Given the description of an element on the screen output the (x, y) to click on. 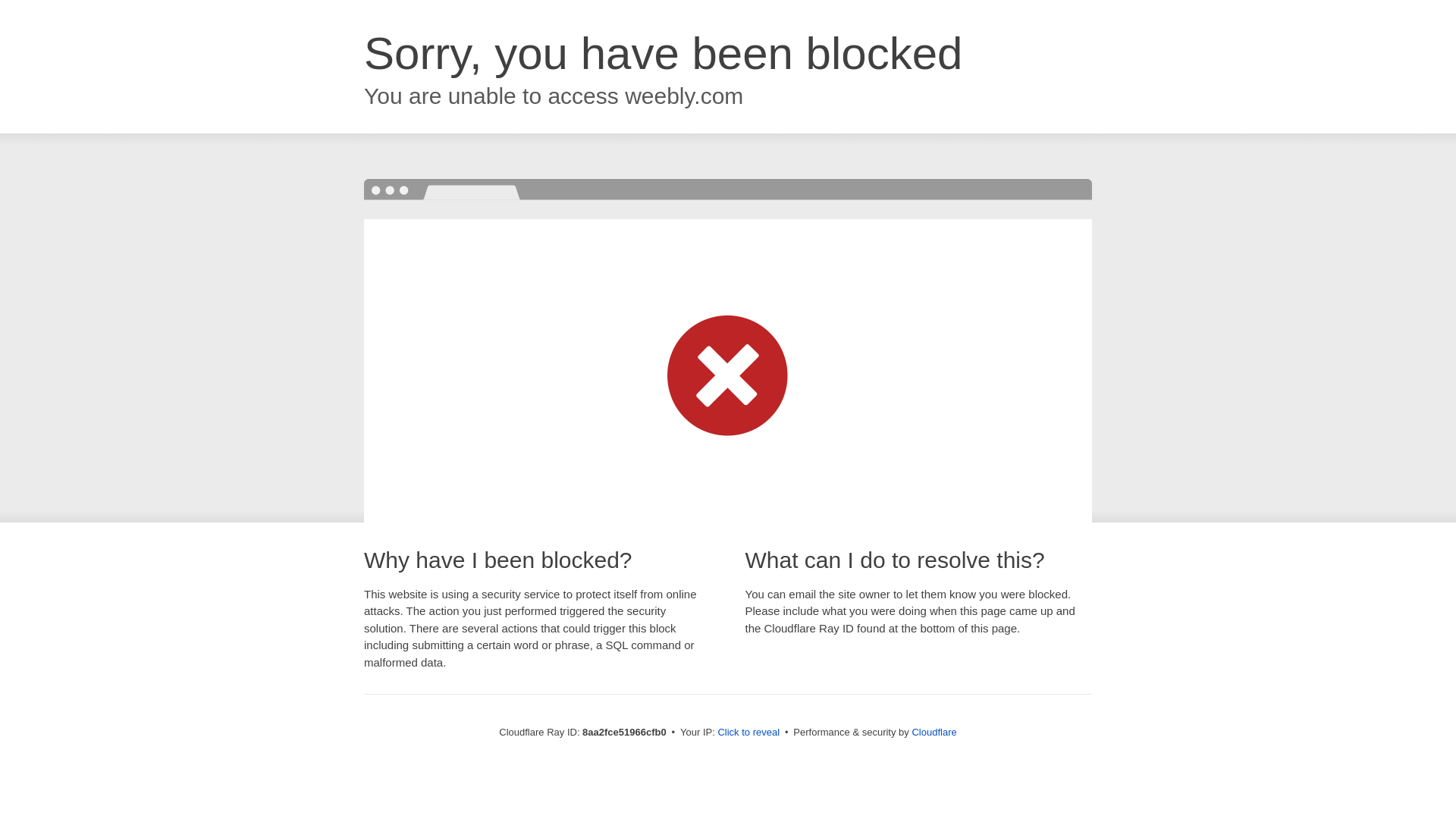
Cloudflare (933, 731)
Click to reveal (747, 732)
